Given the description of an element on the screen output the (x, y) to click on. 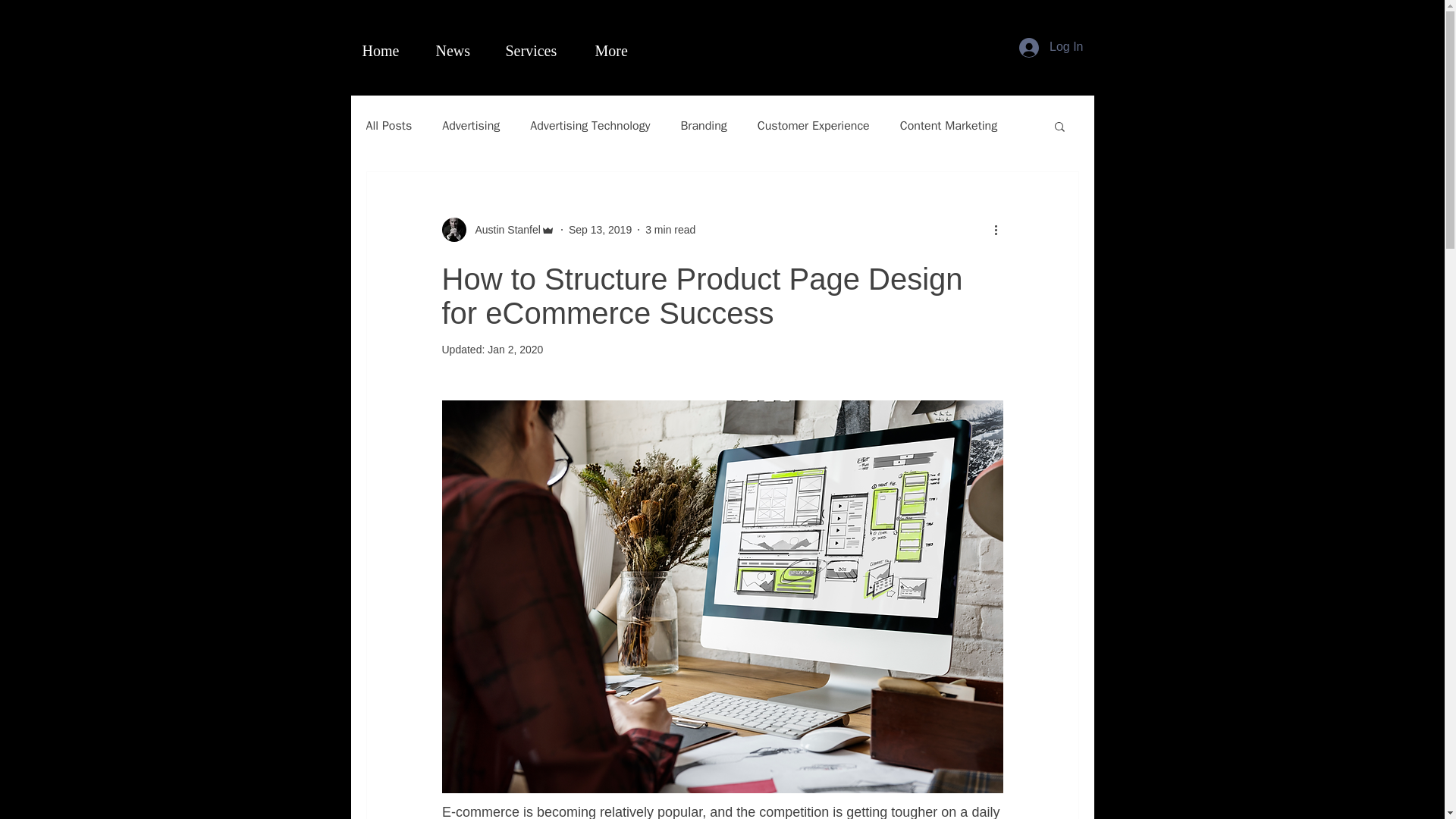
Jan 2, 2020 (515, 349)
News (459, 50)
Austin Stanfel (497, 229)
Branding (702, 125)
3 min read (670, 228)
Log In (1051, 47)
Home (386, 50)
Austin Stanfel (502, 229)
All Posts (388, 125)
Advertising Technology (589, 125)
Services (539, 50)
Customer Experience (813, 125)
Advertising (470, 125)
Content Marketing (948, 125)
Sep 13, 2019 (600, 228)
